Given the description of an element on the screen output the (x, y) to click on. 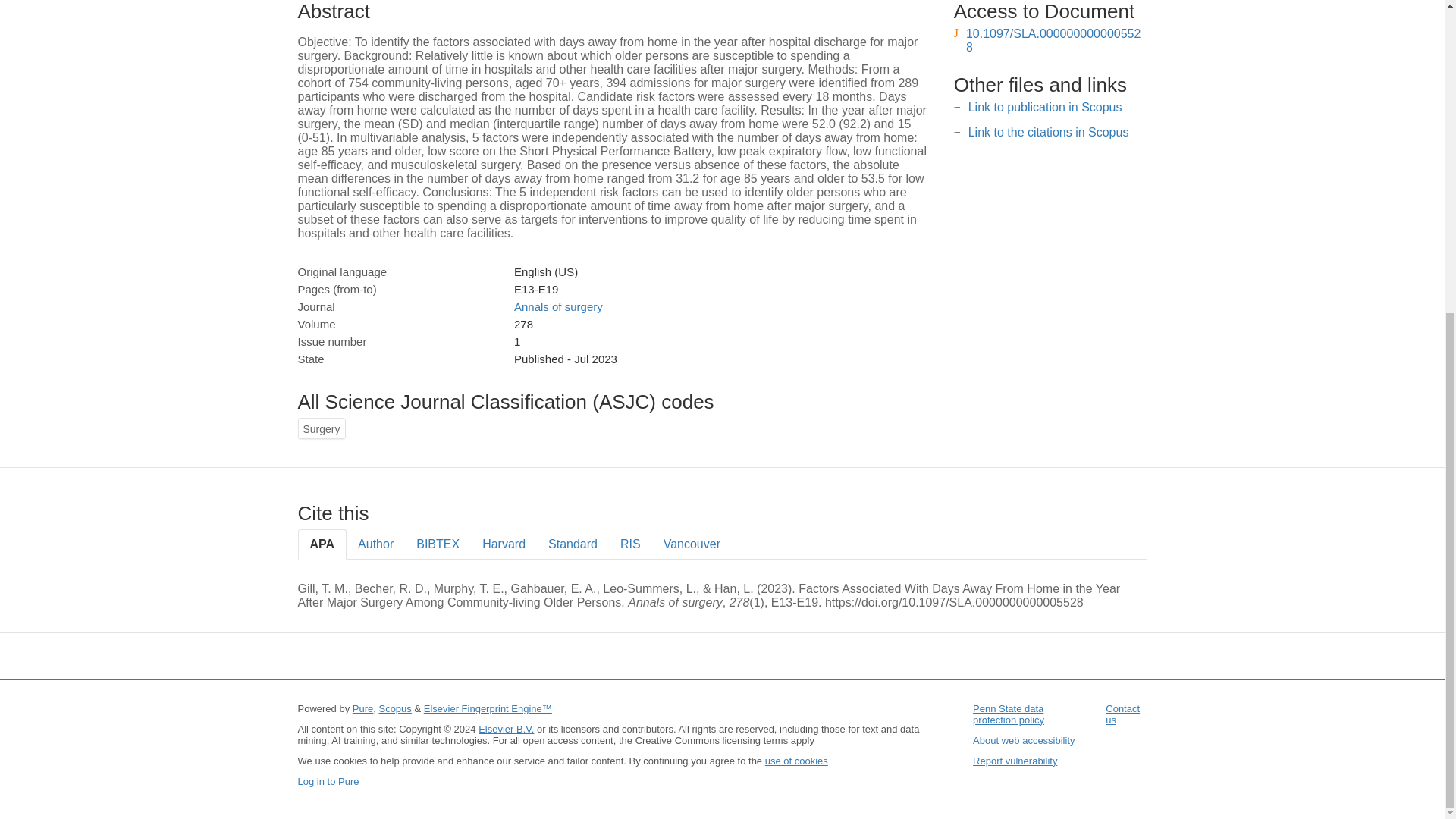
Penn State data protection policy (1007, 713)
Log in to Pure (327, 781)
Annals of surgery (557, 306)
About web accessibility (1023, 740)
Report vulnerability (1014, 760)
use of cookies (796, 760)
Scopus (394, 708)
Link to the citations in Scopus (1048, 132)
Pure (362, 708)
Elsevier B.V. (506, 728)
Link to publication in Scopus (1045, 106)
Contact us (1122, 713)
